Given the description of an element on the screen output the (x, y) to click on. 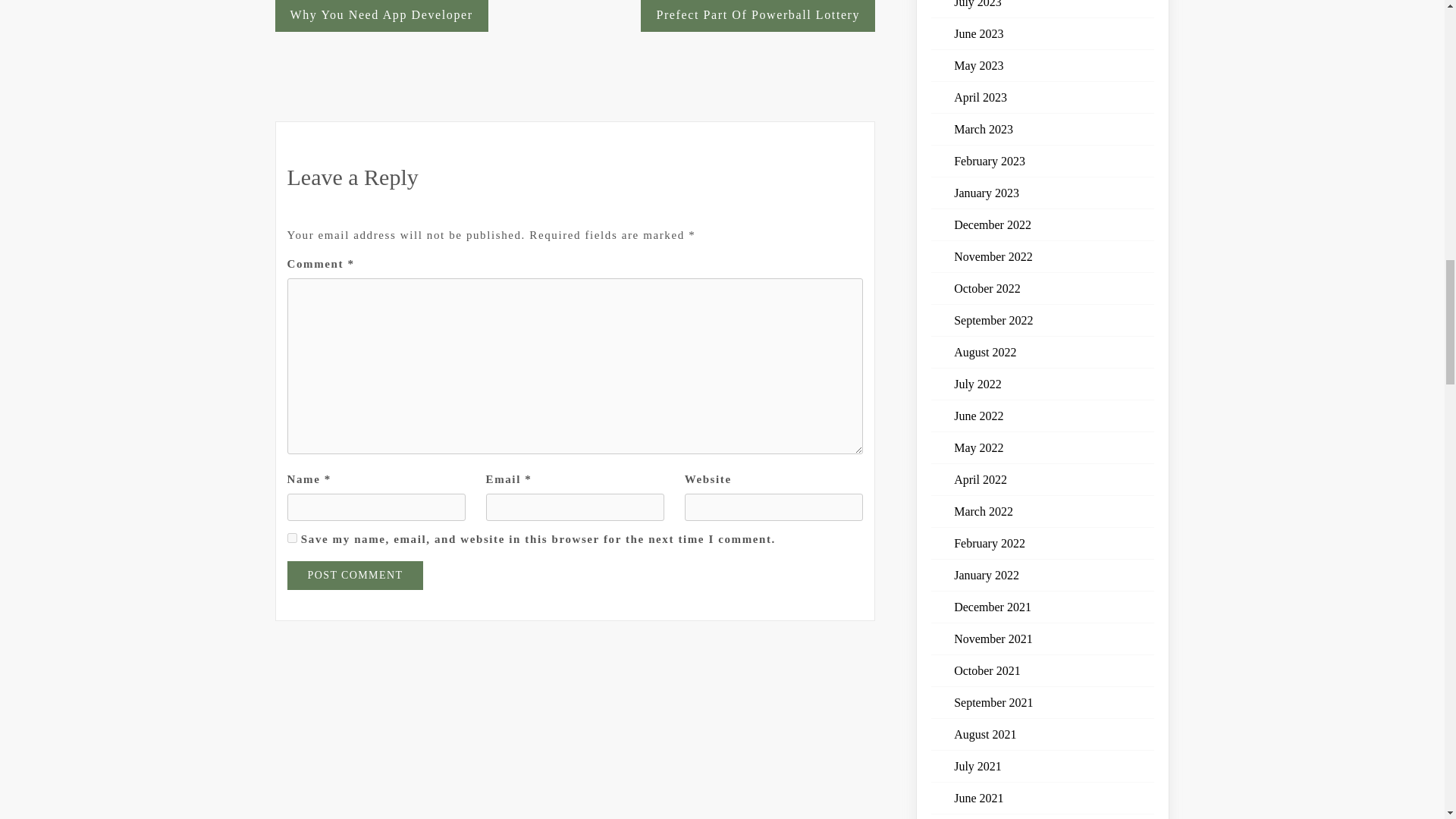
yes (291, 537)
Post Comment (354, 575)
Why You Need App Developer (381, 15)
Prefect Part Of Powerball Lottery (757, 15)
Post Comment (354, 575)
